Given the description of an element on the screen output the (x, y) to click on. 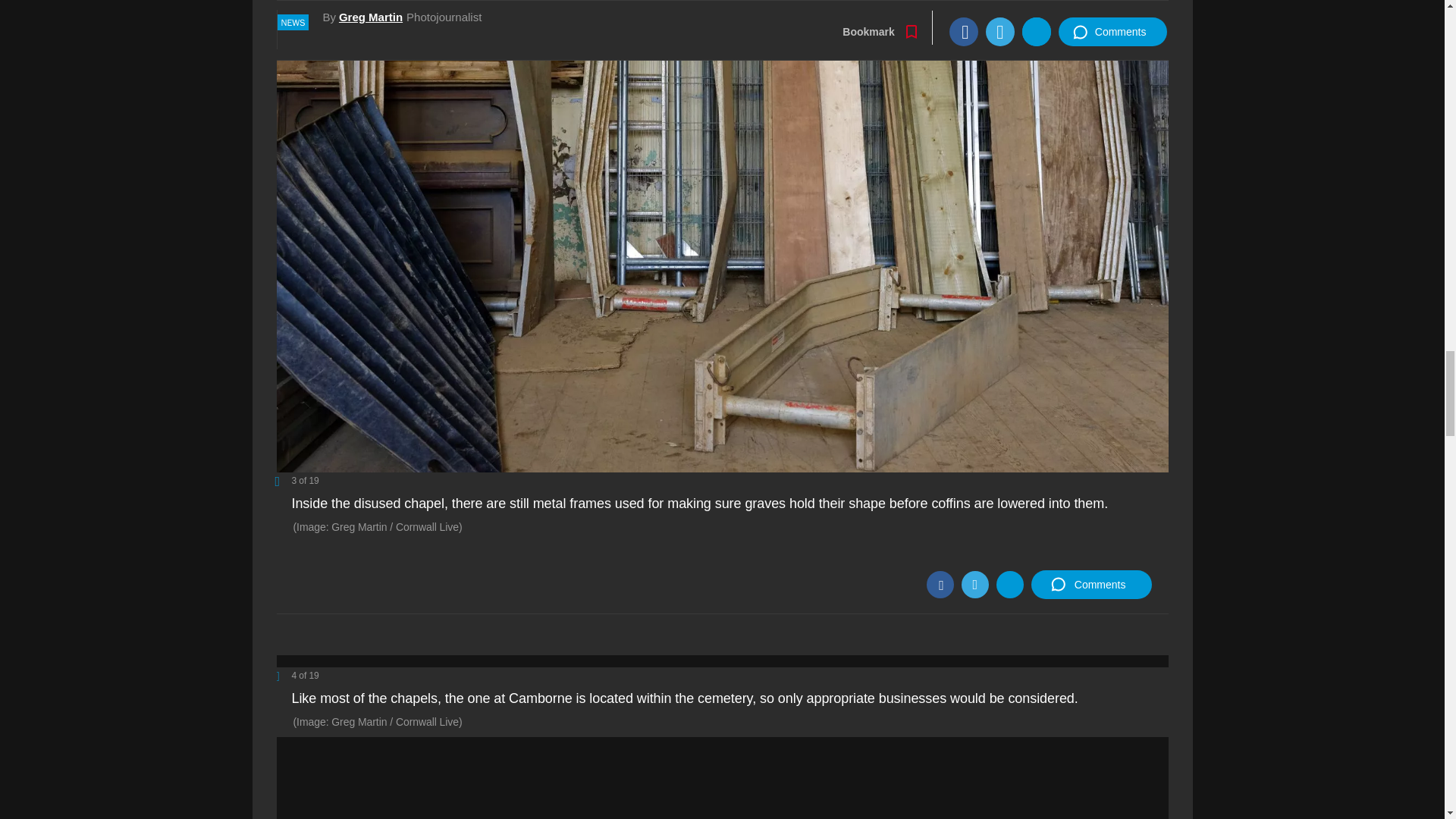
Twitter (974, 584)
Facebook (939, 584)
Comments (1090, 584)
